Given the description of an element on the screen output the (x, y) to click on. 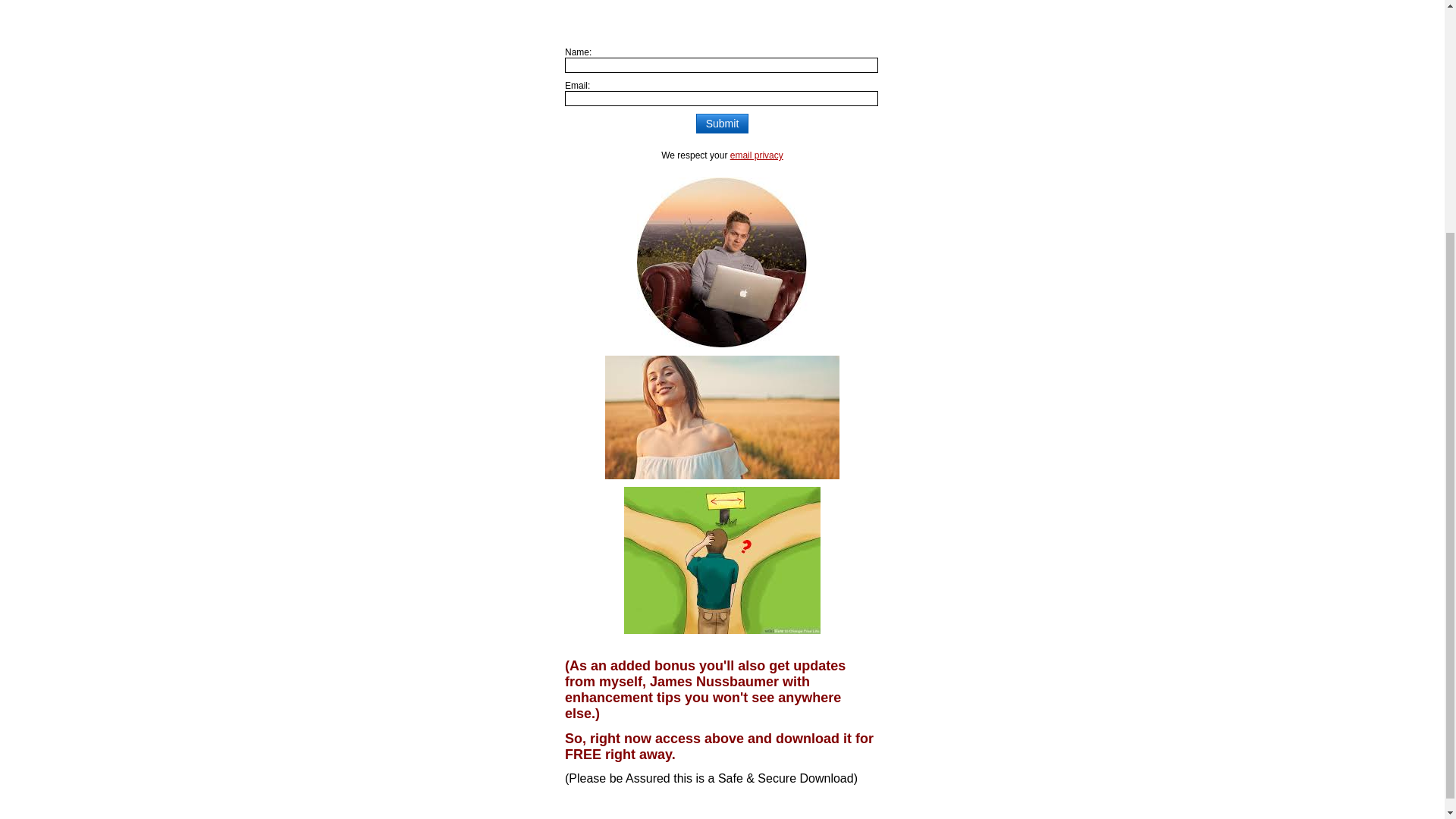
Submit (722, 123)
Submit (722, 123)
email privacy (756, 154)
Privacy Policy (756, 154)
